Given the description of an element on the screen output the (x, y) to click on. 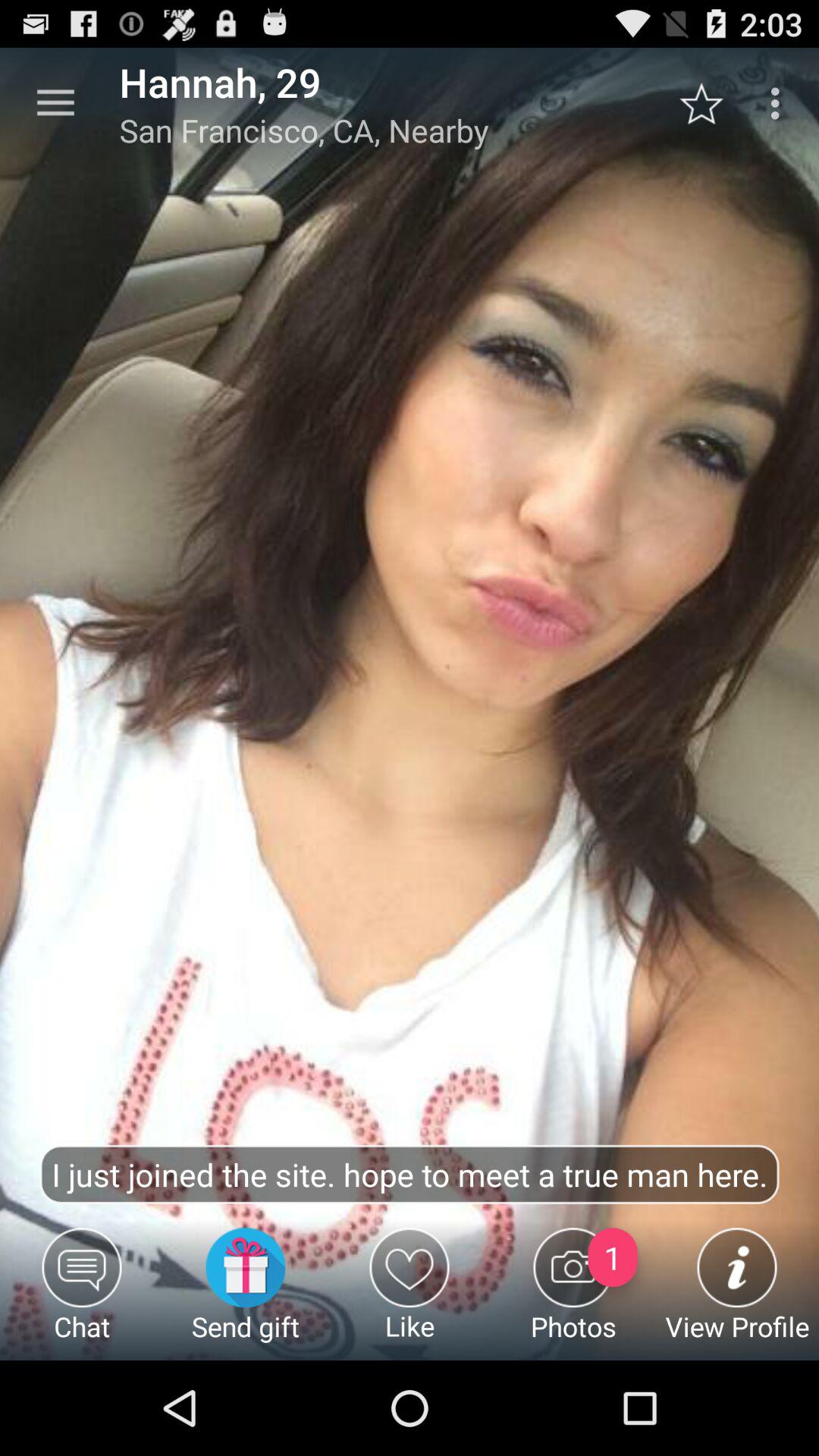
flip until the send gift icon (245, 1293)
